Given the description of an element on the screen output the (x, y) to click on. 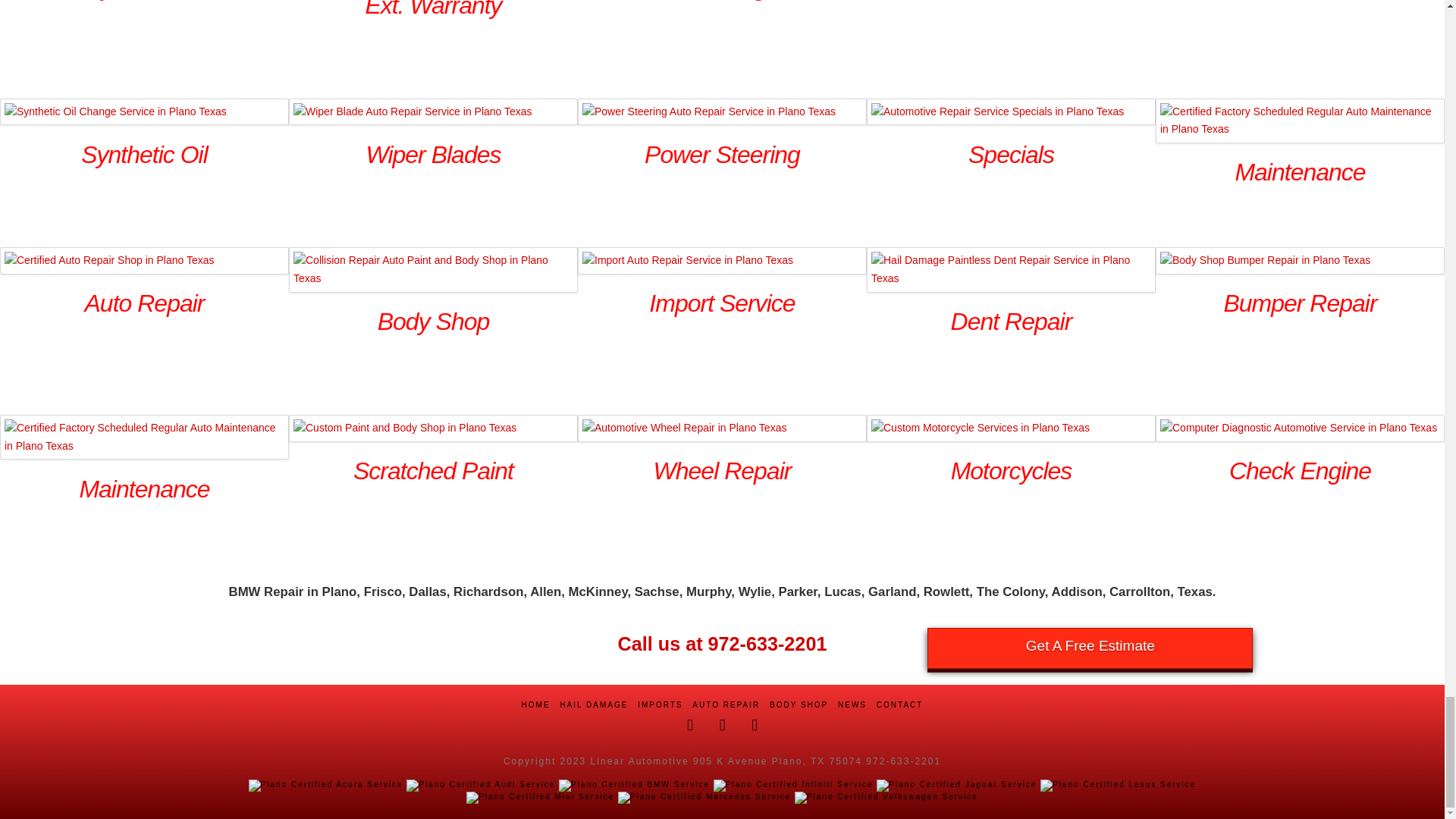
Wiper Blade Auto Repair Service in Plano Texas (433, 111)
Synthetic Oil Change Service in Plano Texas (144, 111)
Power Steering Auto Repair Service in Plano Texas (722, 111)
Automotive Repair Service Specials in Plano Texas (1011, 111)
